Given the description of an element on the screen output the (x, y) to click on. 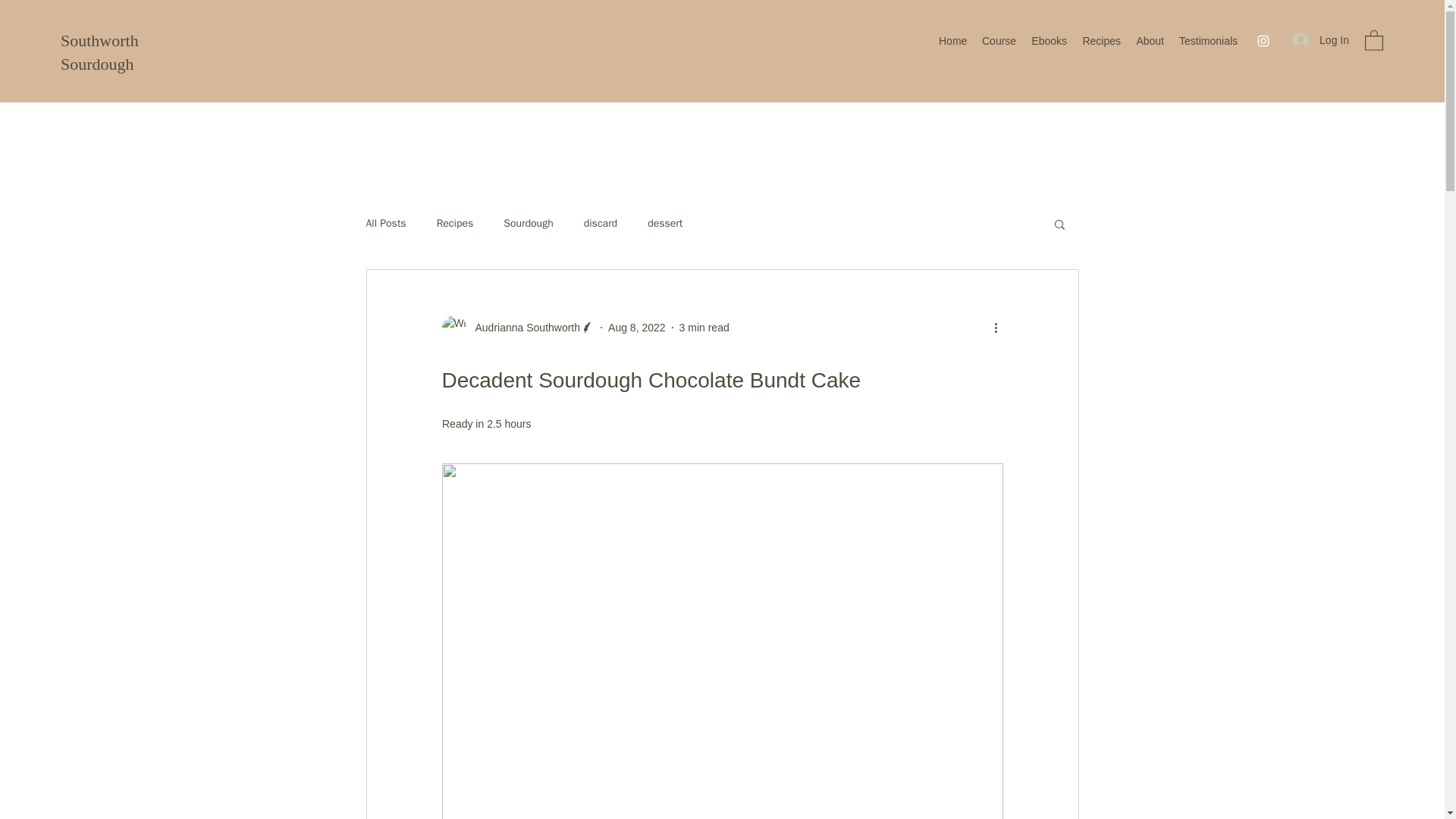
discard (600, 223)
Audrianna Southworth (517, 327)
dessert (664, 223)
Southworth Sourdough (99, 52)
Aug 8, 2022 (636, 327)
3 min read (704, 327)
Log In (1320, 40)
Recipes (455, 223)
Testimonials (1208, 40)
Course (998, 40)
Sourdough (528, 223)
Audrianna Southworth (522, 327)
Home (952, 40)
Recipes (1101, 40)
All Posts (385, 223)
